Given the description of an element on the screen output the (x, y) to click on. 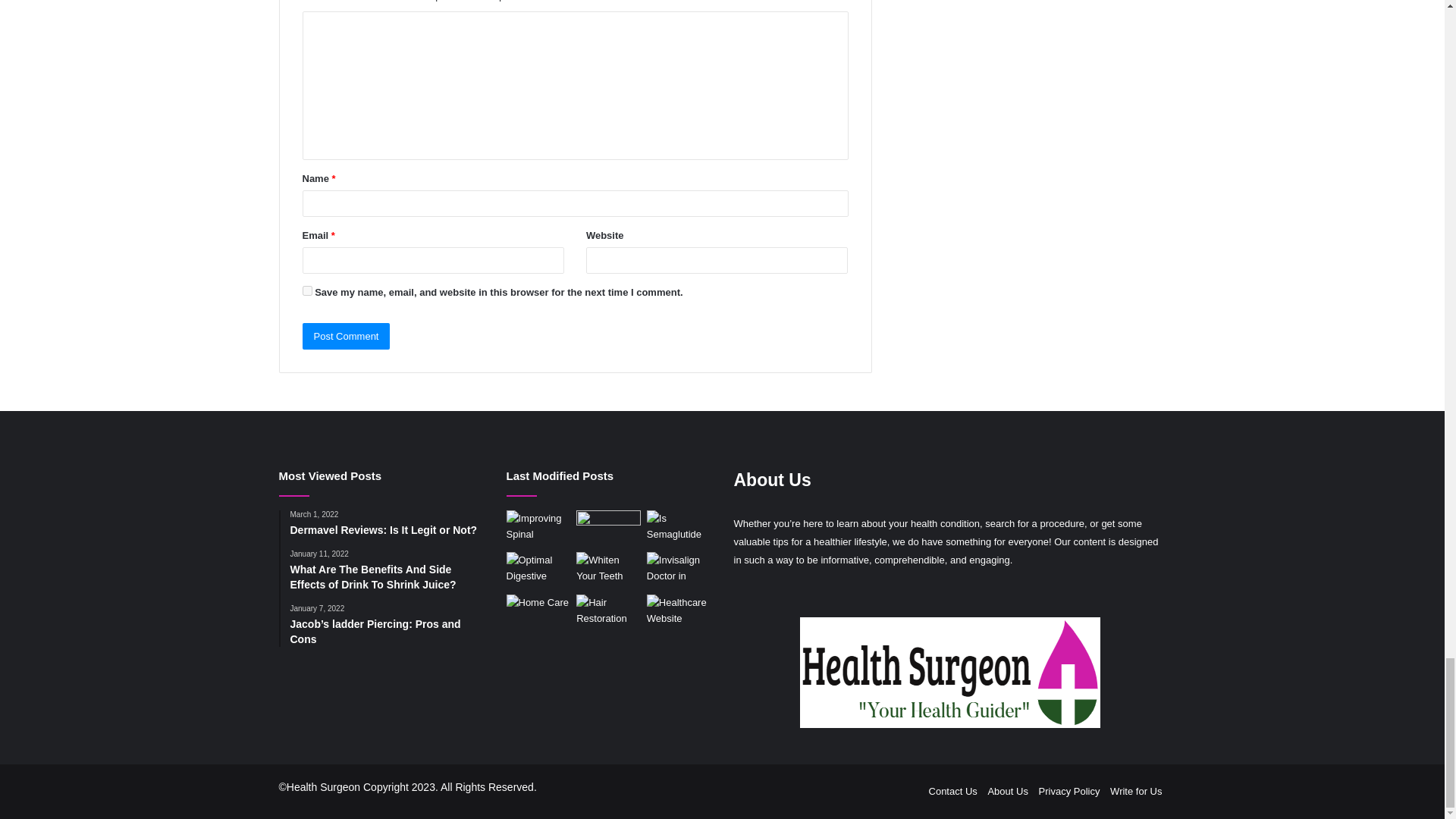
yes (306, 289)
Post Comment (345, 335)
